Given the description of an element on the screen output the (x, y) to click on. 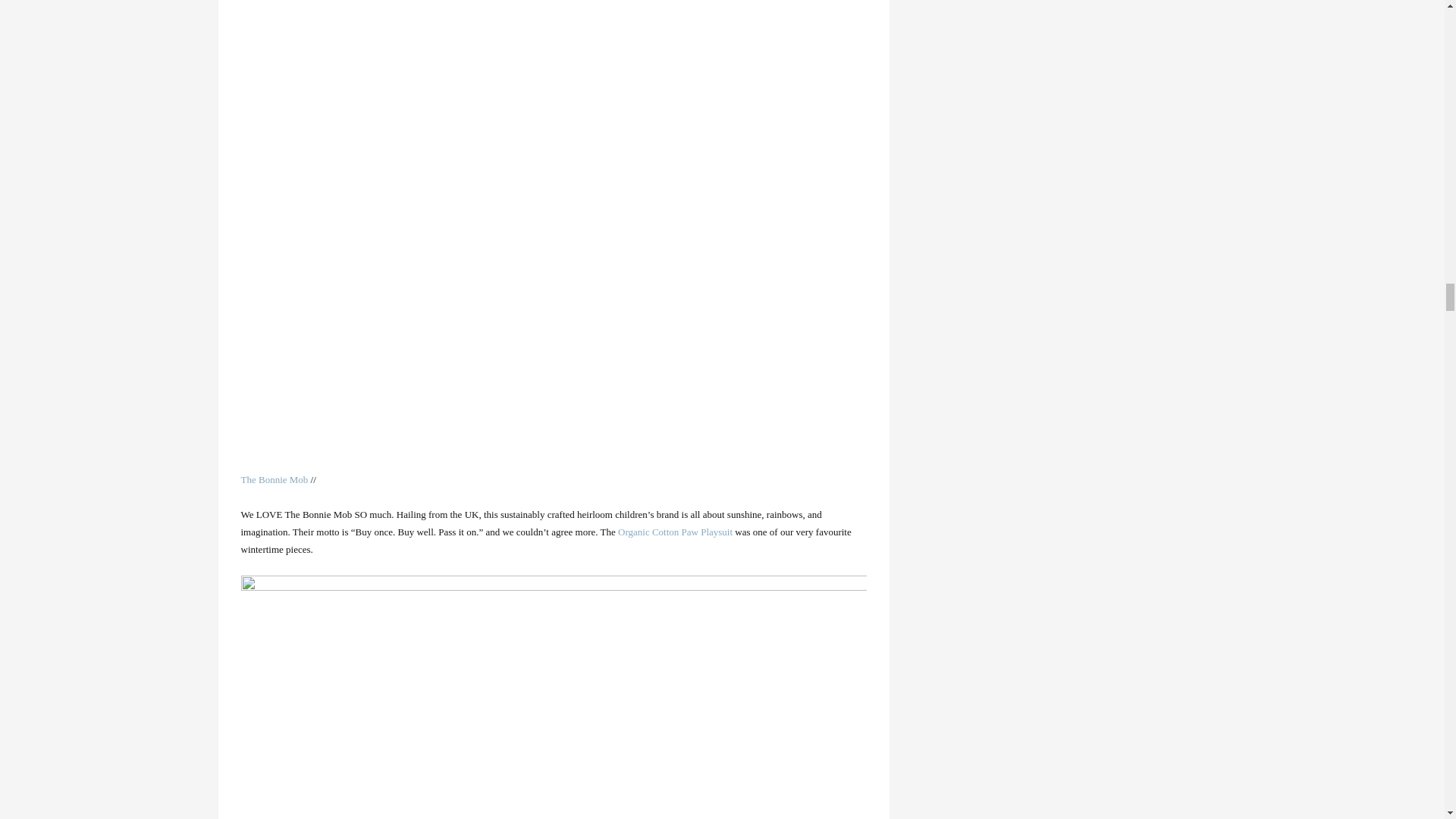
Organic Cotton Paw Playsuit (674, 531)
The Bonnie Mob (274, 479)
